Given the description of an element on the screen output the (x, y) to click on. 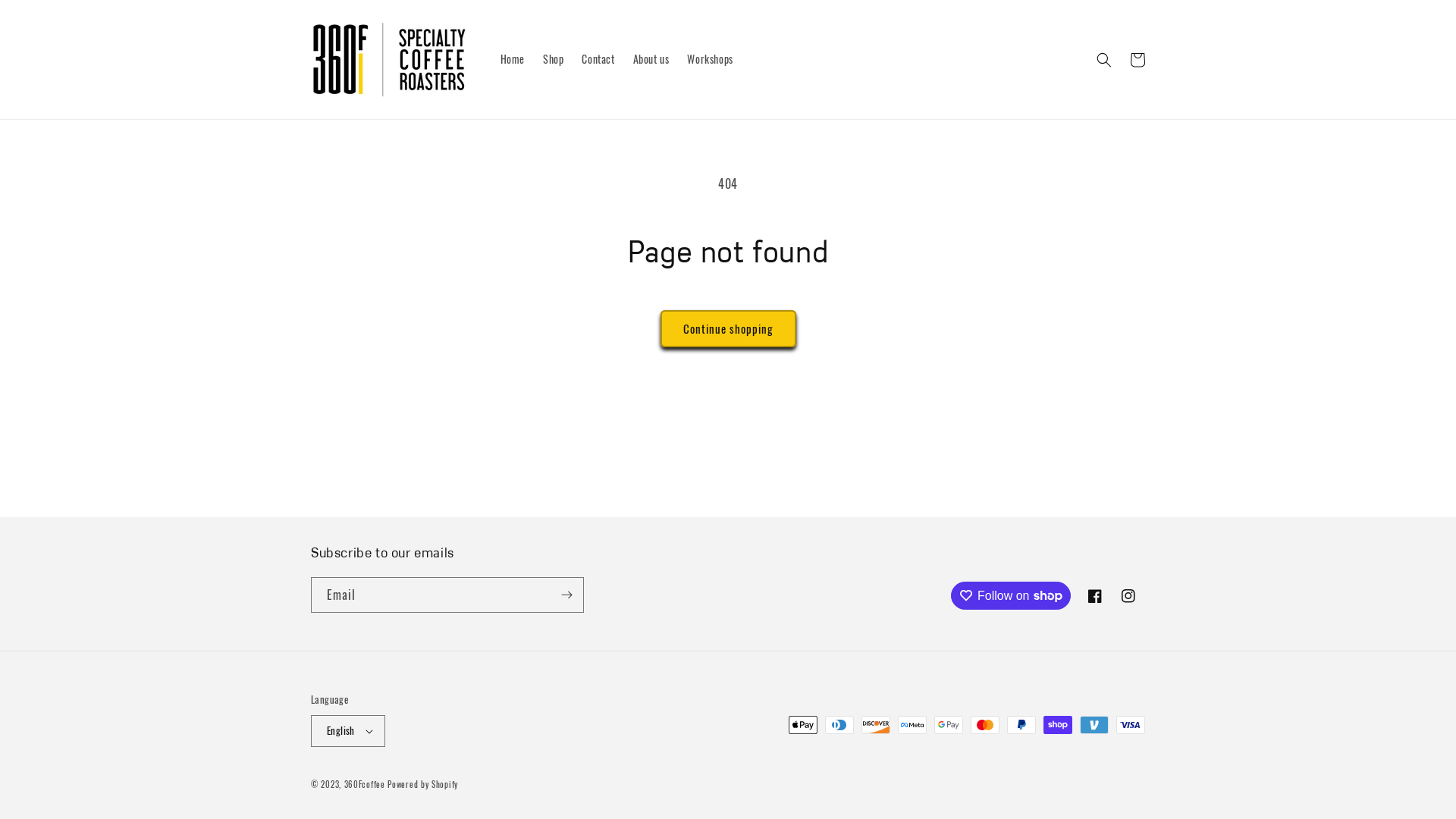
Contact Element type: text (597, 59)
English Element type: text (347, 730)
About us Element type: text (651, 59)
Home Element type: text (512, 59)
Powered by Shopify Element type: text (422, 784)
Cart Element type: text (1137, 58)
Facebook Element type: text (1094, 595)
Continue shopping Element type: text (727, 328)
Instagram Element type: text (1128, 595)
Workshops Element type: text (709, 59)
Shop Element type: text (552, 59)
360Fcoffee Element type: text (364, 784)
